Given the description of an element on the screen output the (x, y) to click on. 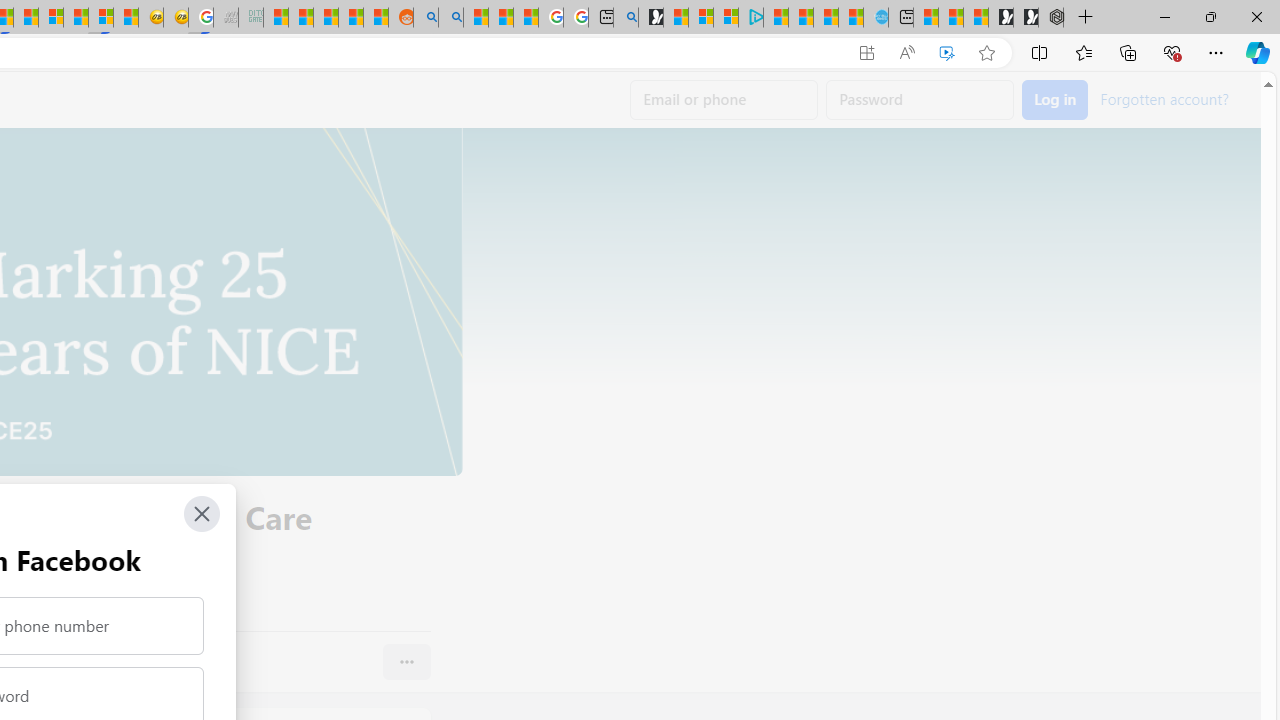
Enhance video (946, 53)
